Given the description of an element on the screen output the (x, y) to click on. 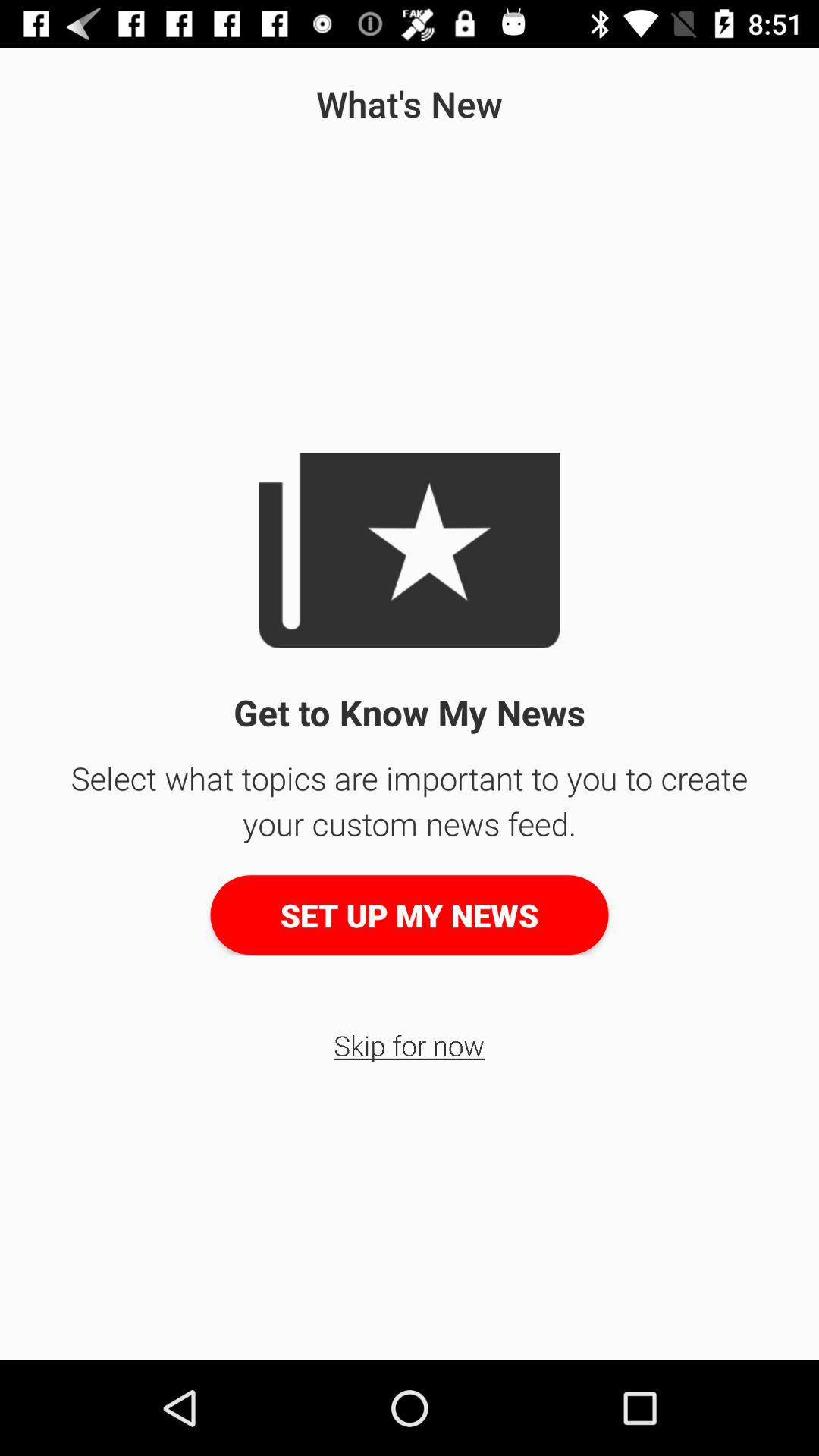
flip to the set up my button (409, 914)
